Given the description of an element on the screen output the (x, y) to click on. 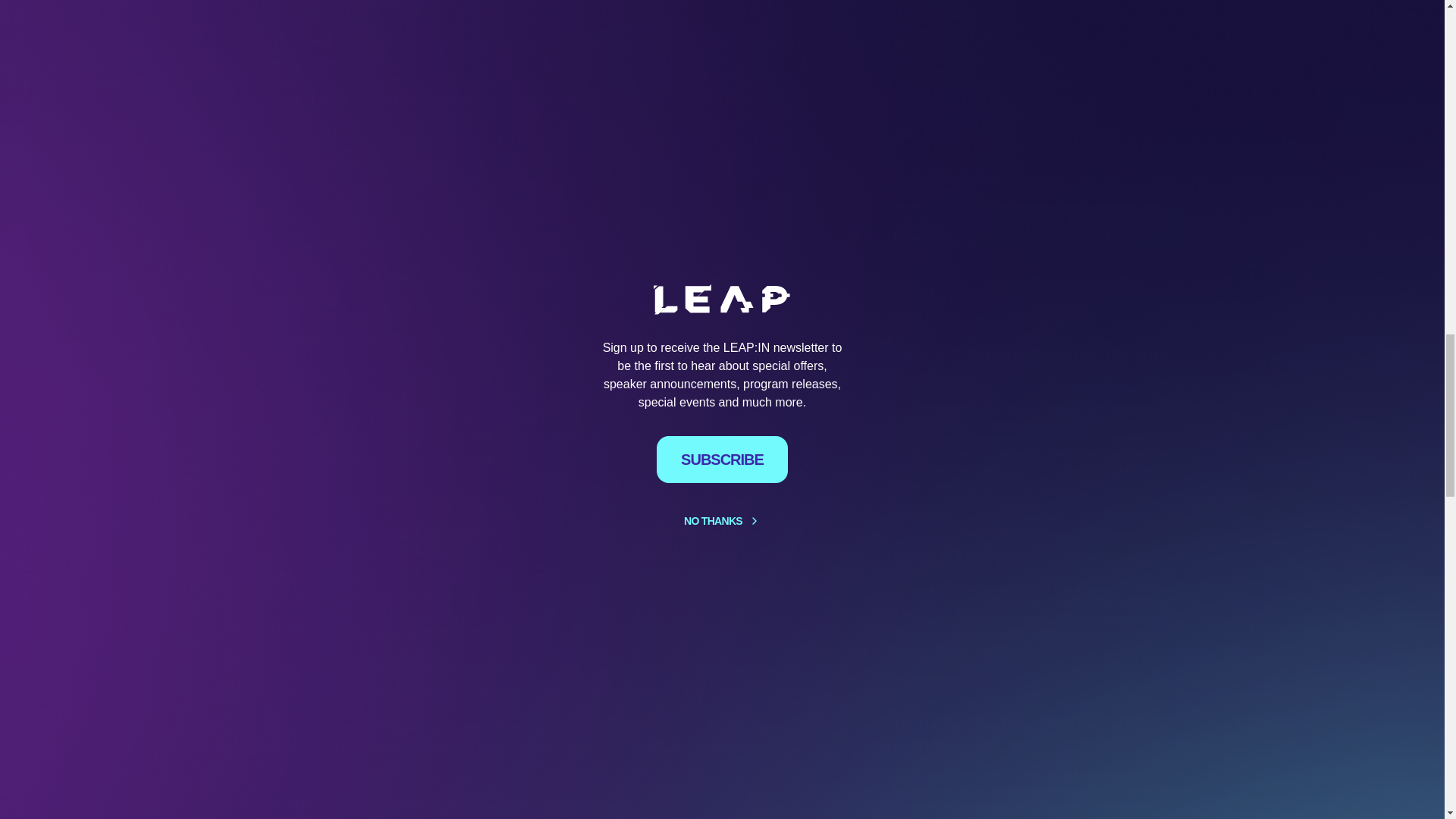
Gartner (338, 748)
Forbes (350, 668)
